Given the description of an element on the screen output the (x, y) to click on. 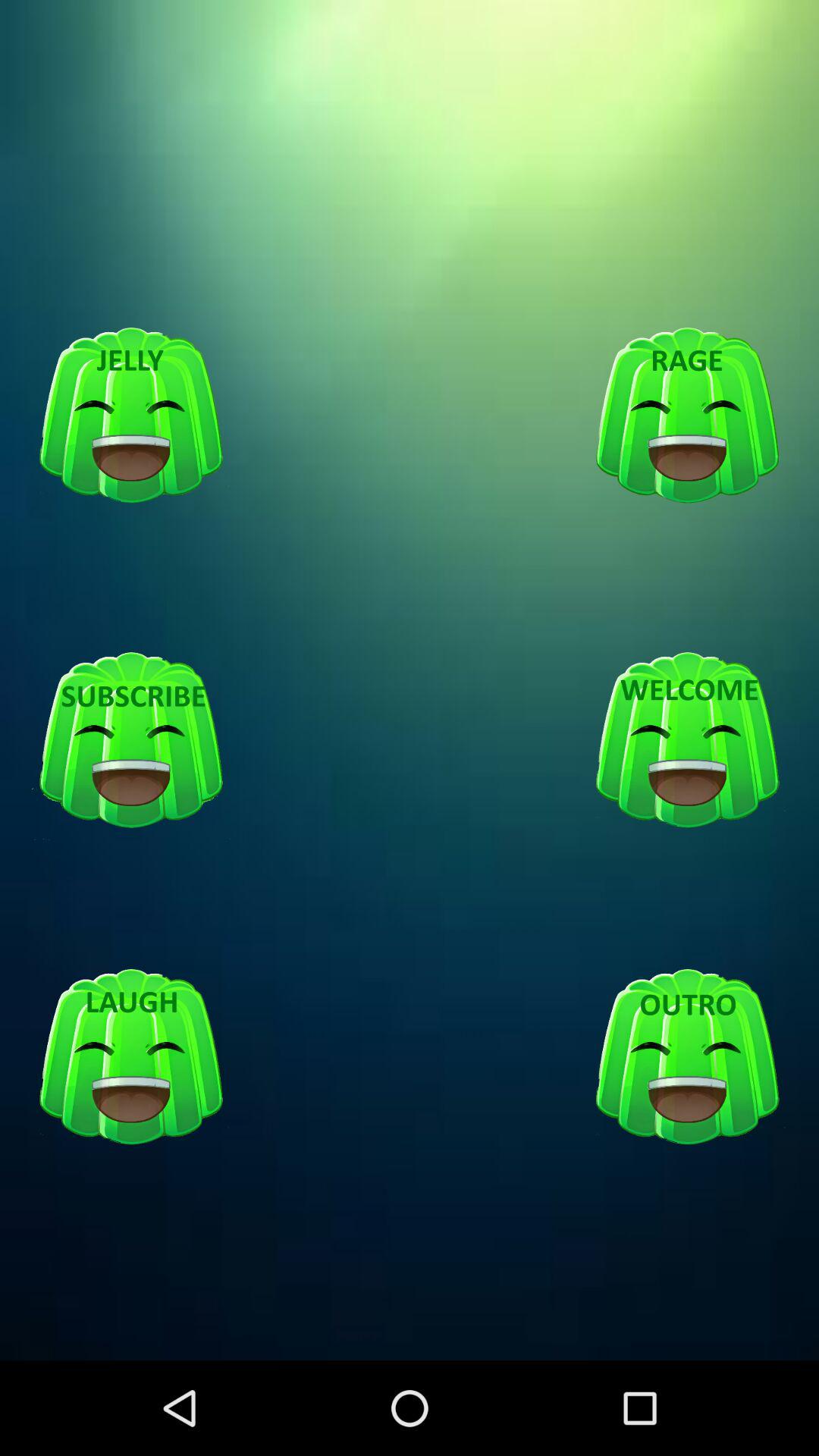
select laugh (130, 1057)
